Given the description of an element on the screen output the (x, y) to click on. 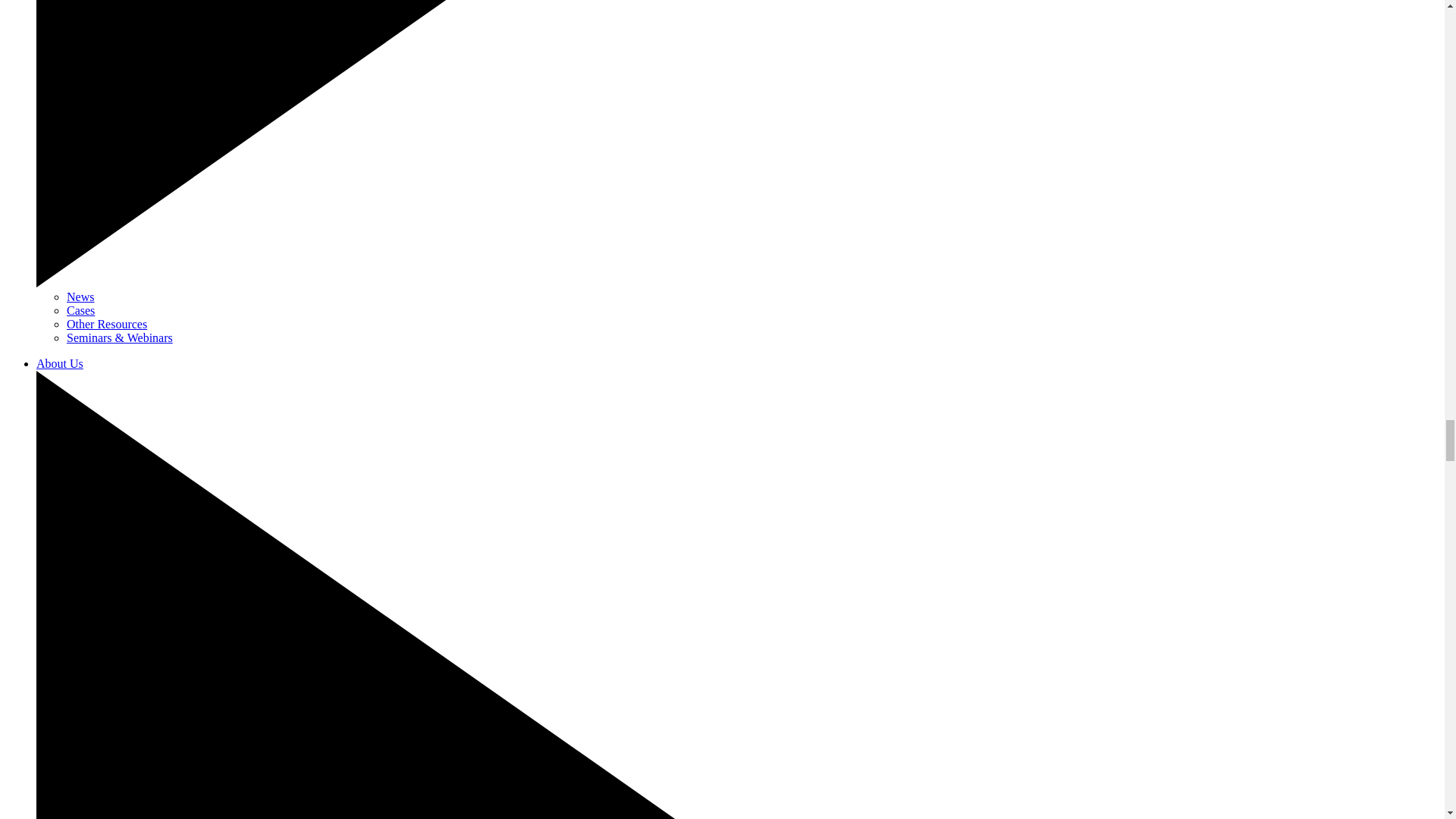
Cases (80, 309)
Other Resources (106, 323)
News (80, 296)
About Us (59, 363)
